Given the description of an element on the screen output the (x, y) to click on. 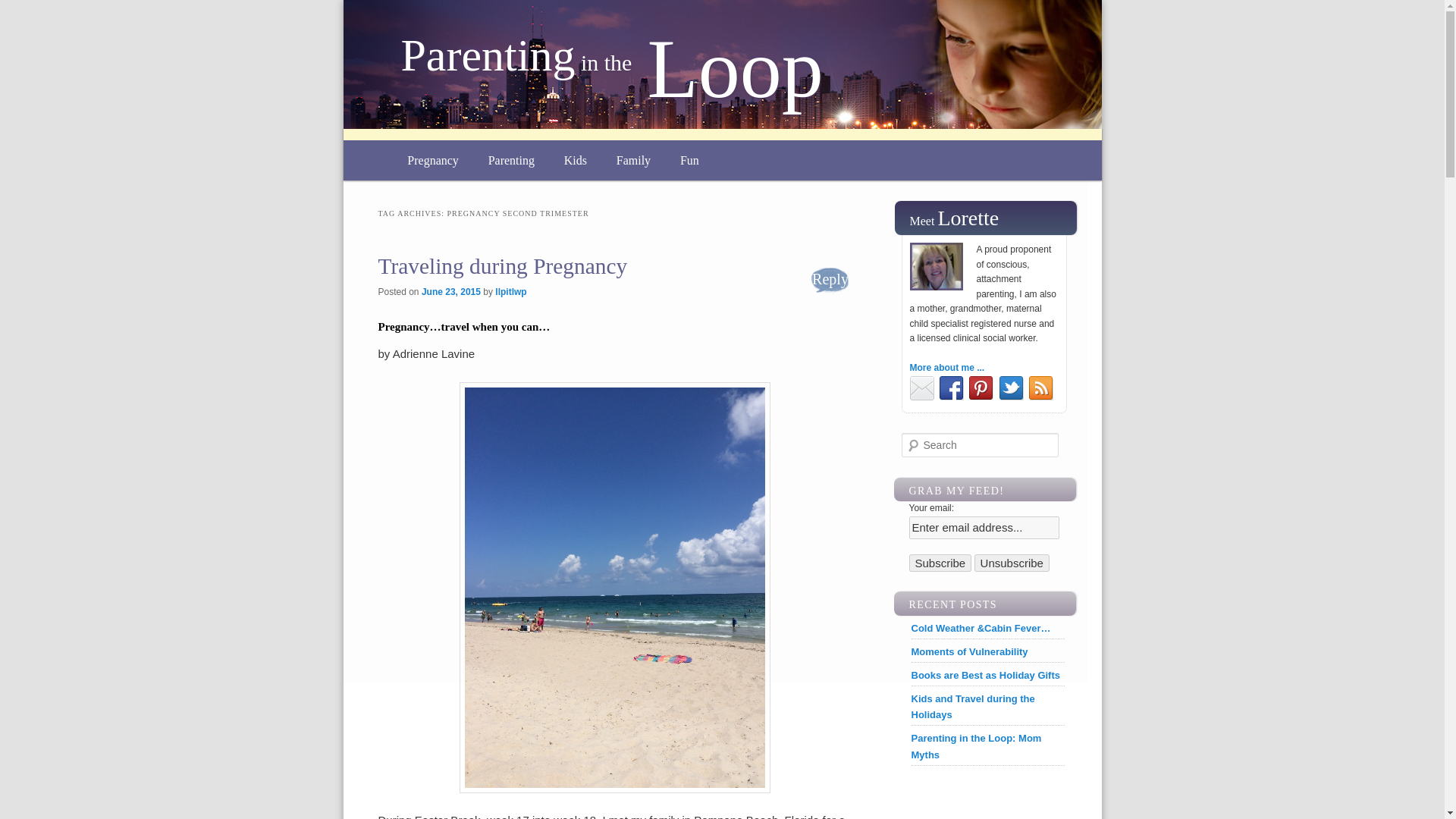
Unsubscribe (1011, 562)
Parenting (510, 160)
June 23, 2015 (451, 291)
Skip to secondary content (478, 160)
View all posts by llpitlwp (510, 291)
Pregnancy (433, 160)
Fun (689, 160)
Traveling during Pregnancy (502, 265)
Reply (830, 279)
Permalink to Traveling during Pregnancy (502, 265)
Skip to secondary content (478, 160)
llpitlwp (510, 291)
Kids (574, 160)
Enter email address... (983, 527)
Subscribe (939, 562)
